Given the description of an element on the screen output the (x, y) to click on. 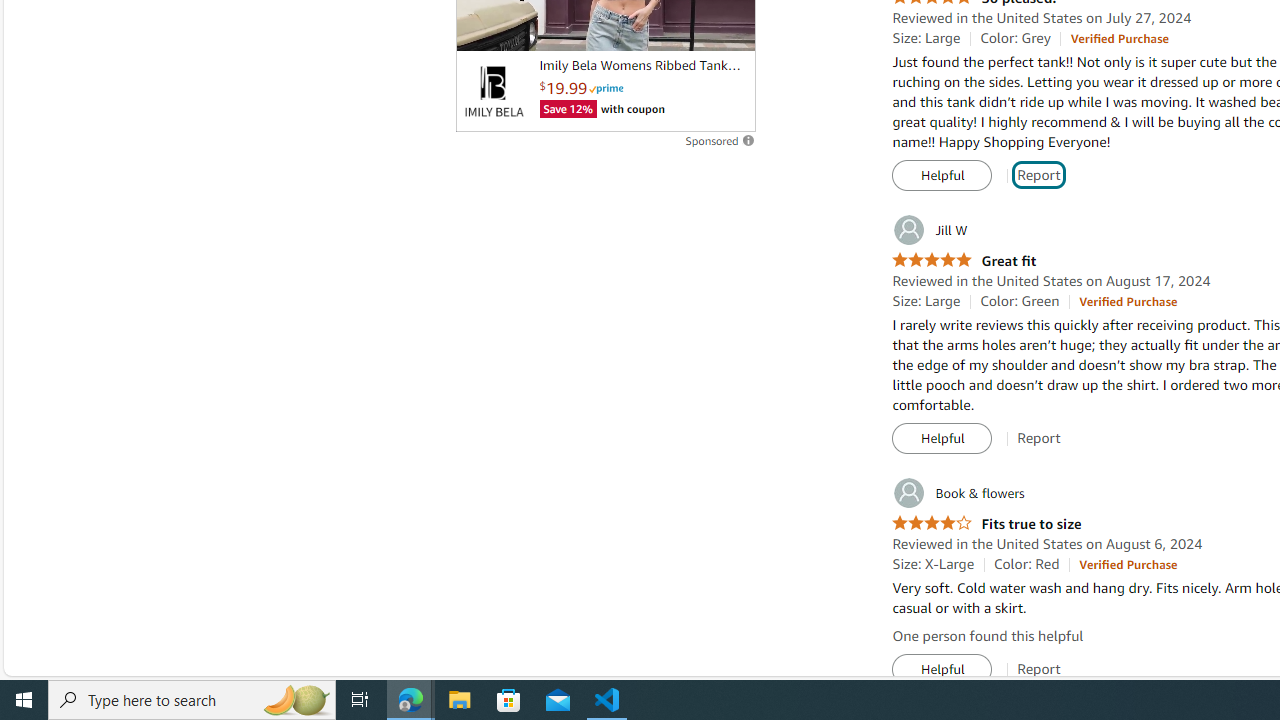
Prime (605, 88)
Report (1039, 669)
Logo (493, 91)
Book & flowers (958, 493)
Verified Purchase (1128, 564)
Unmute (729, 27)
5.0 out of 5 stars Great fit (964, 260)
Jill W (929, 230)
4.0 out of 5 stars Fits true to size (986, 524)
Pause (481, 27)
Helpful (942, 669)
